Given the description of an element on the screen output the (x, y) to click on. 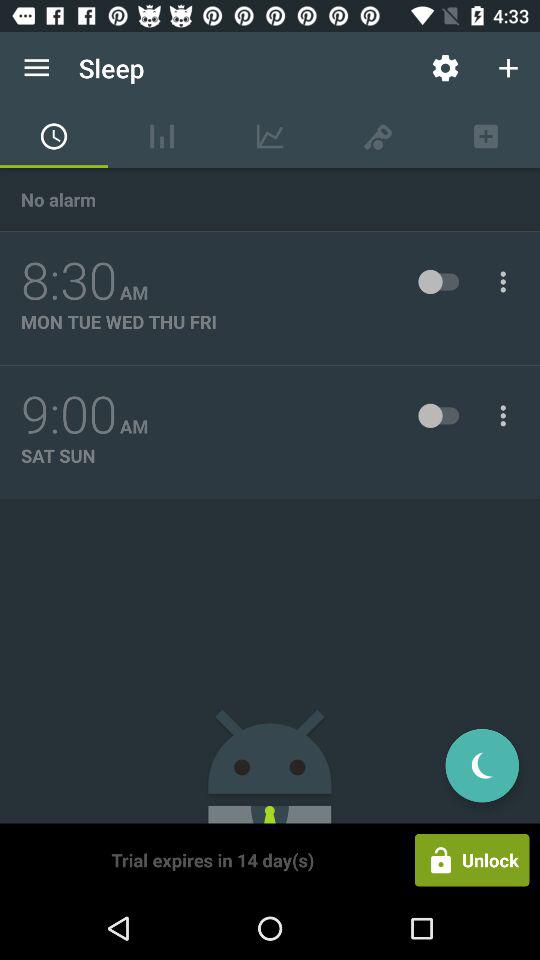
scroll to 8:30 icon (69, 281)
